Given the description of an element on the screen output the (x, y) to click on. 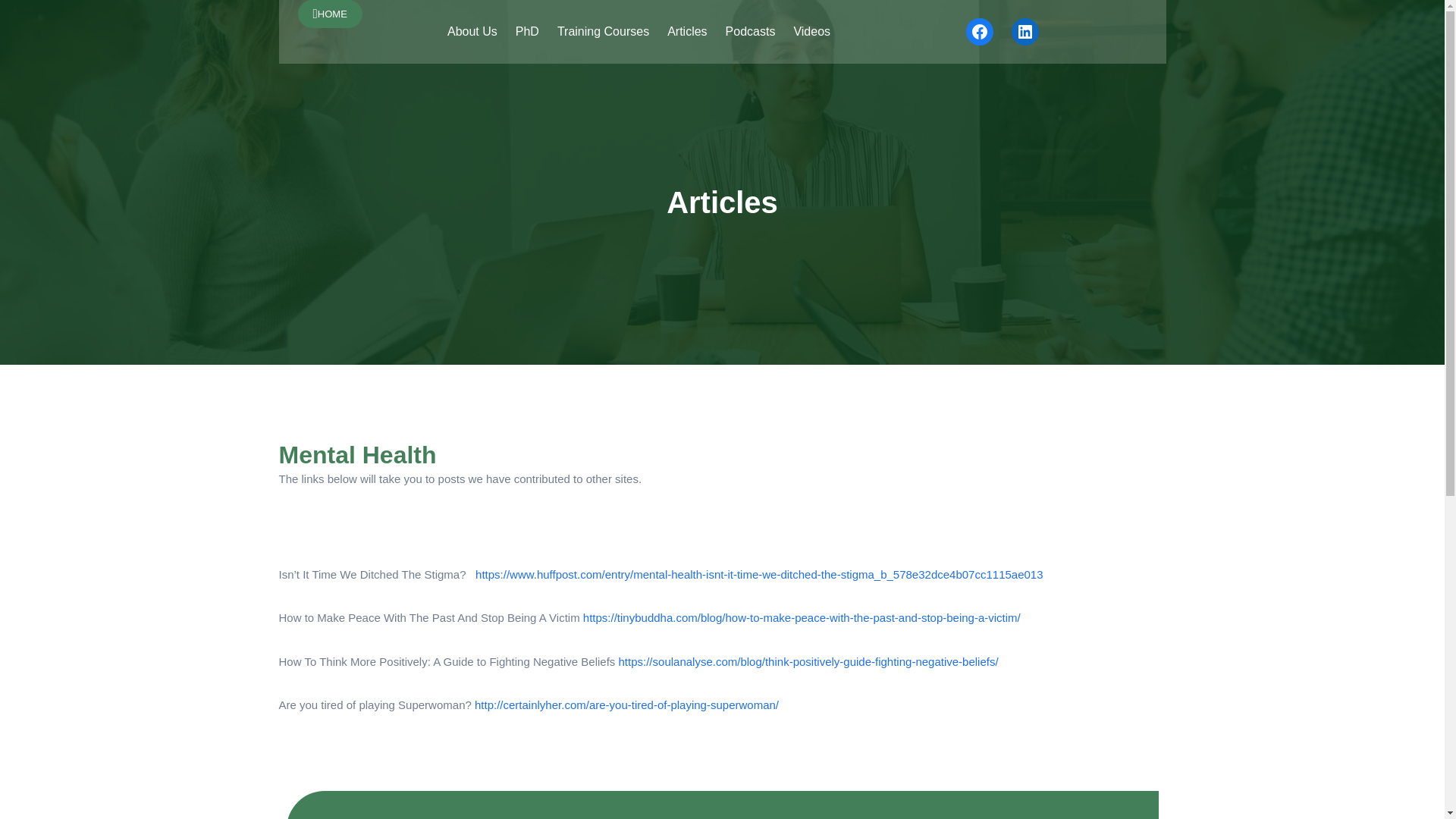
Articles (686, 31)
PhD (526, 31)
Videos (811, 31)
Training Courses (603, 31)
Podcasts (750, 31)
HOME (329, 13)
LinkedIn (1025, 31)
About Us (471, 31)
Facebook (979, 31)
